Given the description of an element on the screen output the (x, y) to click on. 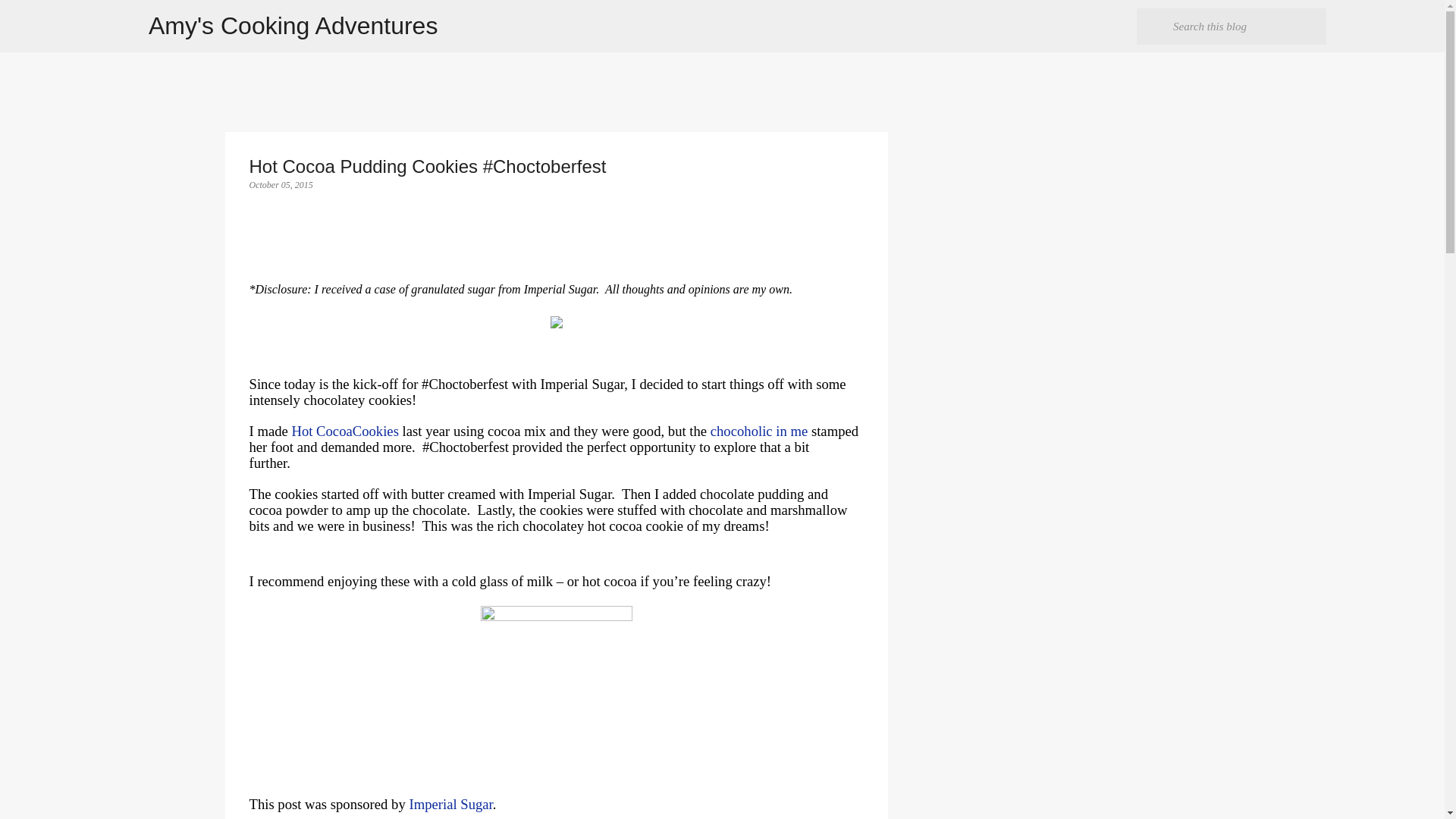
Imperial Sugar (450, 804)
Hot CocoaCookies (344, 430)
chocoholic in me (759, 430)
October 05, 2015 (280, 184)
permanent link (280, 184)
Amy's Cooking Adventures (293, 25)
